Given the description of an element on the screen output the (x, y) to click on. 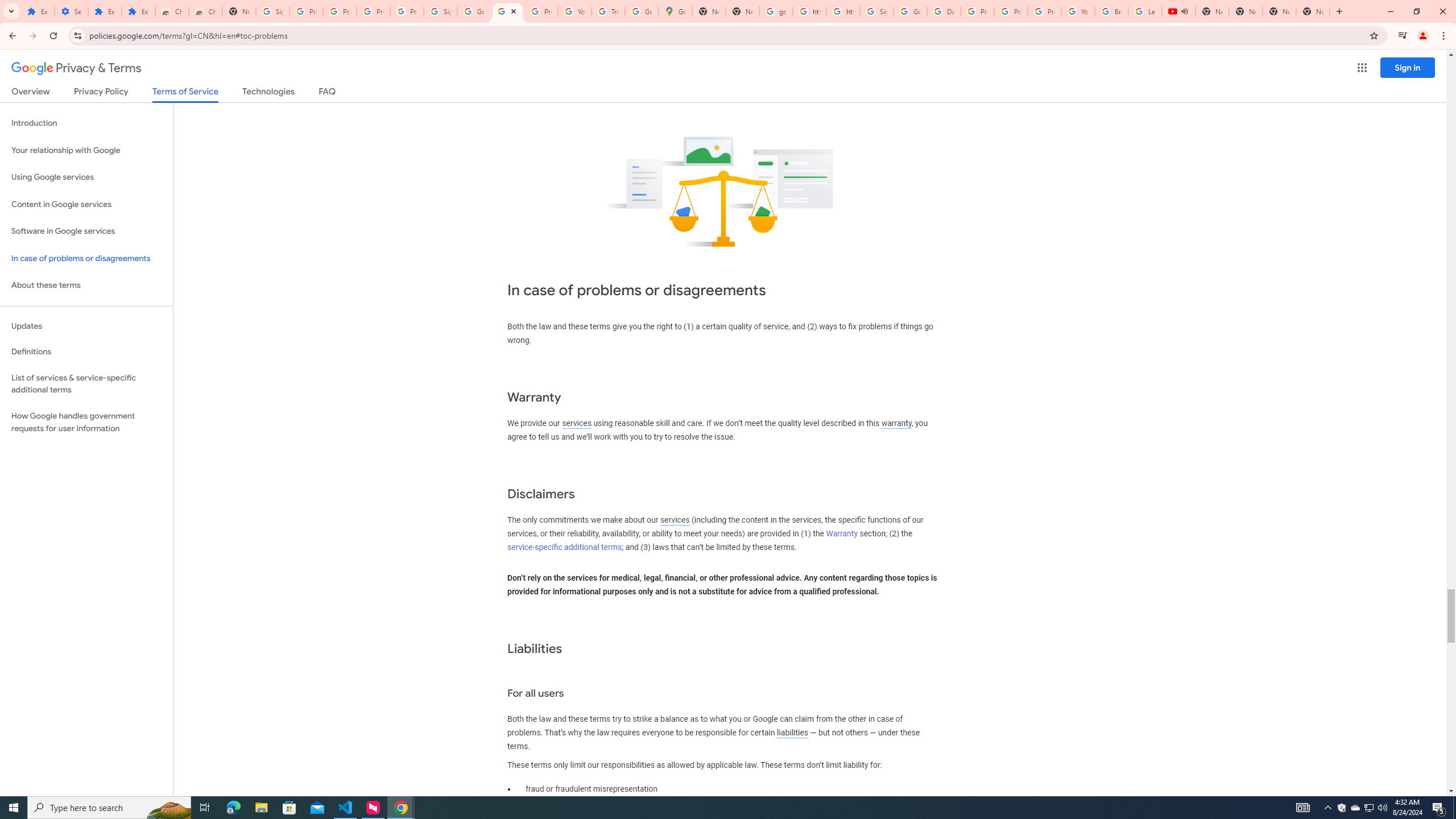
Extensions (138, 11)
Extensions (37, 11)
About these terms (86, 284)
service-specific additional terms (563, 547)
liabilities (792, 732)
New Tab (238, 11)
